Given the description of an element on the screen output the (x, y) to click on. 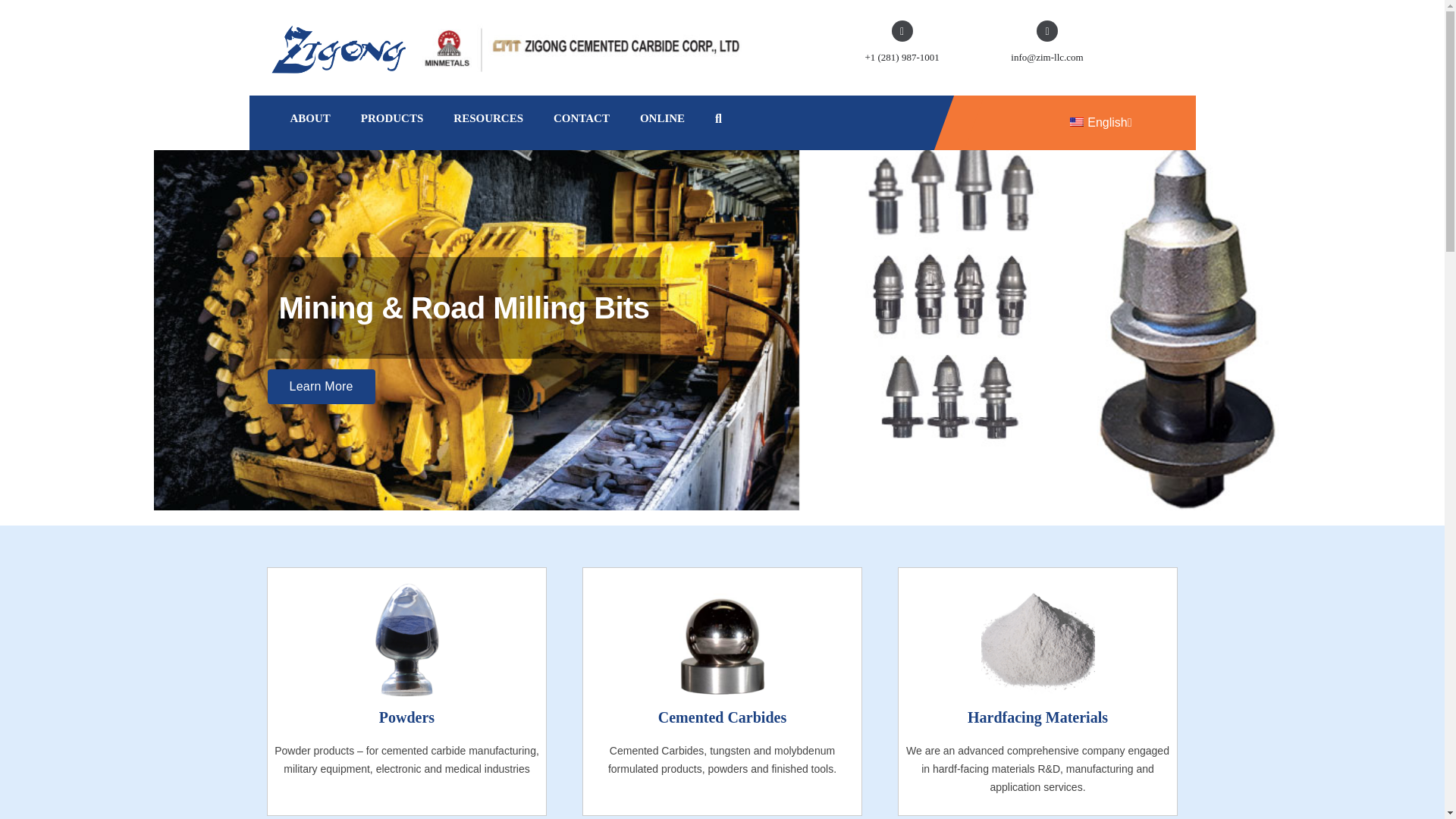
PRODUCTS (392, 118)
2-cemented-carbides-home-page (721, 639)
powder-1 (407, 639)
hard-facing-powder-a (1037, 639)
ABOUT (309, 118)
